Given the description of an element on the screen output the (x, y) to click on. 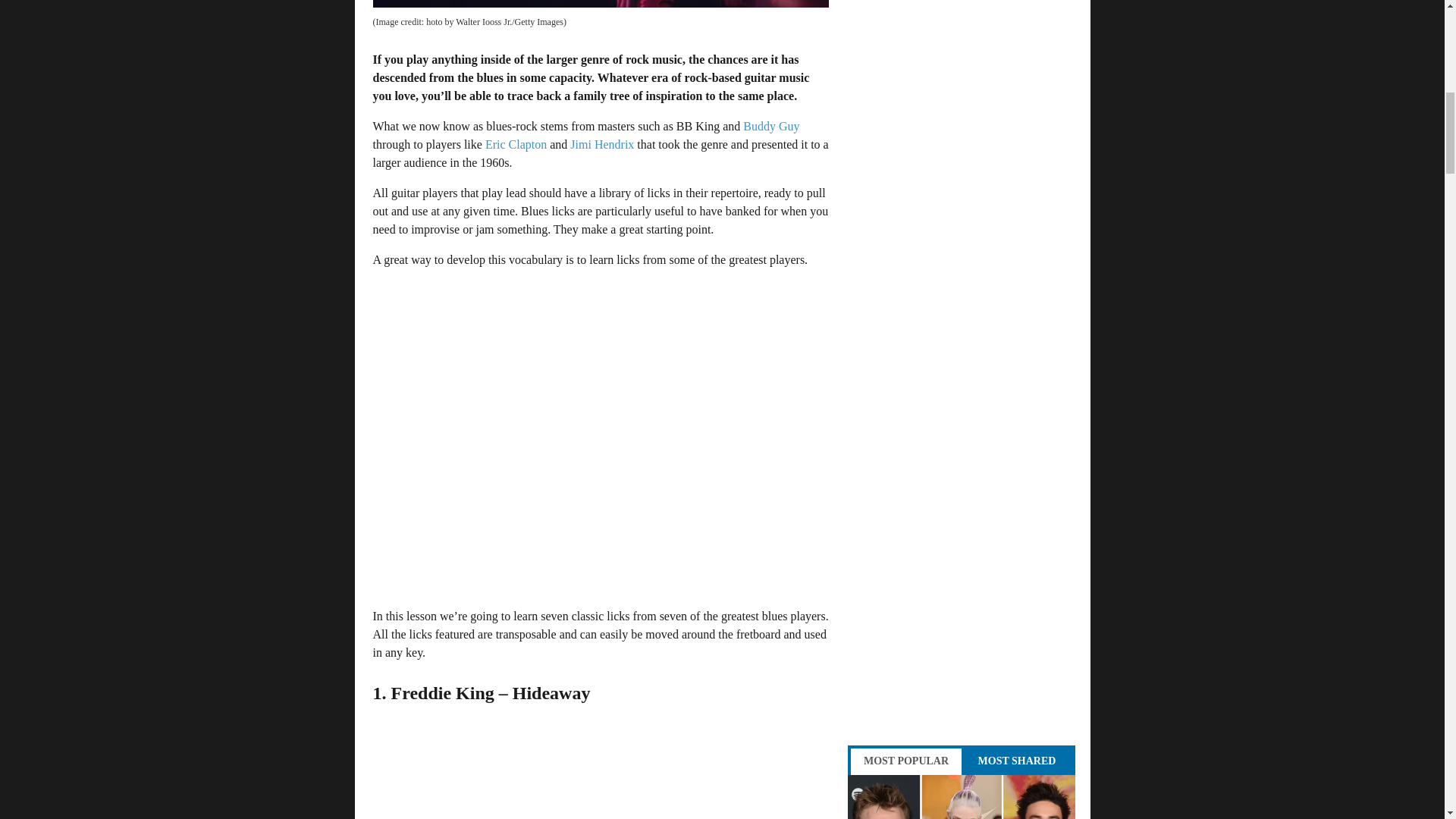
Which audio interfaces do the pros use? (961, 796)
